Given the description of an element on the screen output the (x, y) to click on. 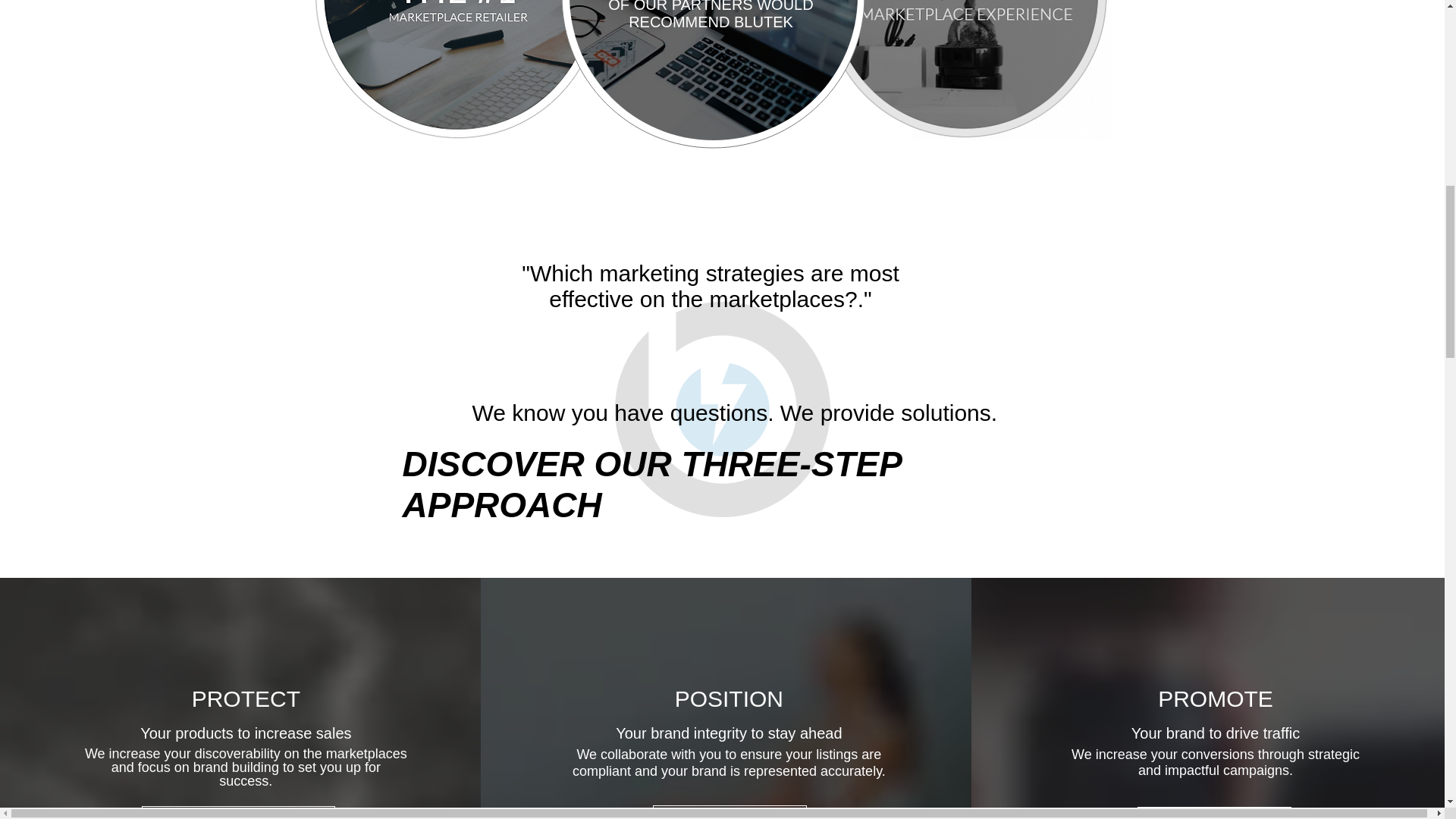
POSITION YOUR PRODUCTS (237, 812)
BOOST YOUR SALES (1214, 812)
PROTECT YOUR BRAND (729, 812)
